Given the description of an element on the screen output the (x, y) to click on. 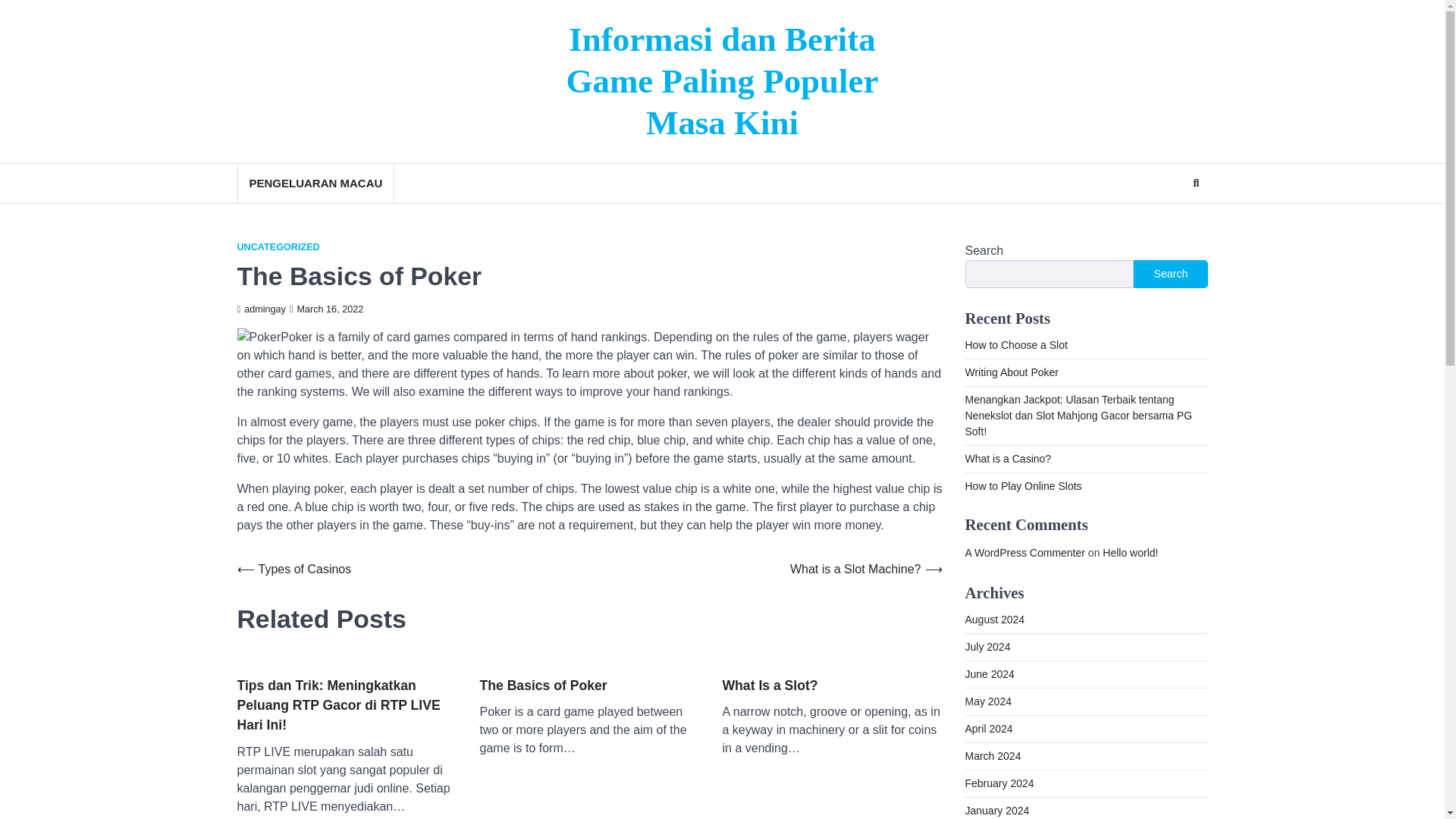
June 2024 (988, 674)
March 16, 2022 (325, 308)
PENGELUARAN MACAU (314, 183)
What Is a Slot? (769, 685)
May 2024 (986, 701)
April 2024 (987, 728)
January 2024 (996, 810)
August 2024 (994, 619)
Informasi dan Berita Game Paling Populer Masa Kini (721, 80)
July 2024 (986, 646)
Search (1168, 219)
How to Play Online Slots (1022, 485)
Search (1170, 273)
UNCATEGORIZED (276, 247)
